Given the description of an element on the screen output the (x, y) to click on. 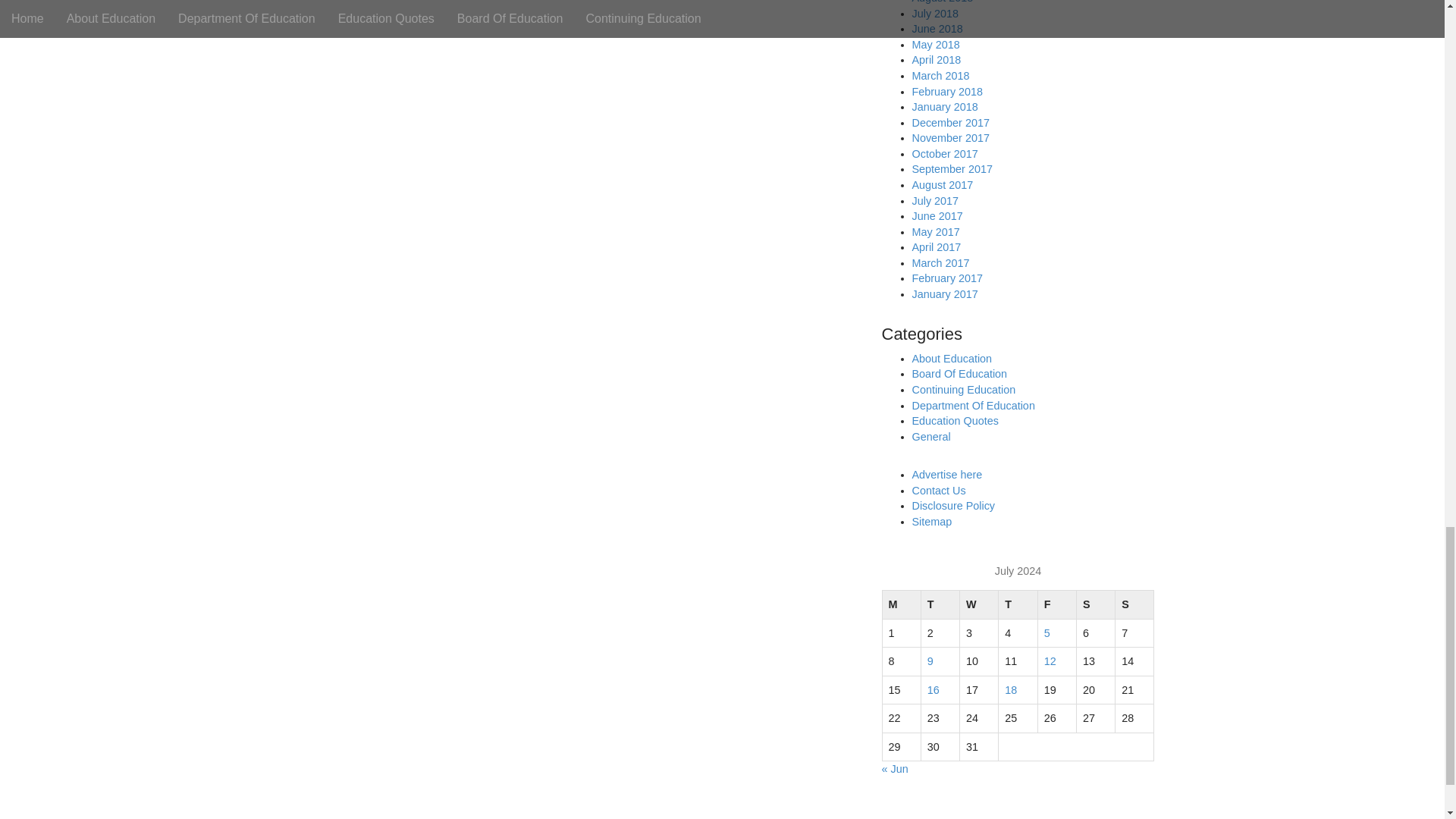
Sunday (1134, 604)
Tuesday (939, 604)
Thursday (1017, 604)
Saturday (1095, 604)
Wednesday (978, 604)
Monday (901, 604)
Friday (1055, 604)
